Given the description of an element on the screen output the (x, y) to click on. 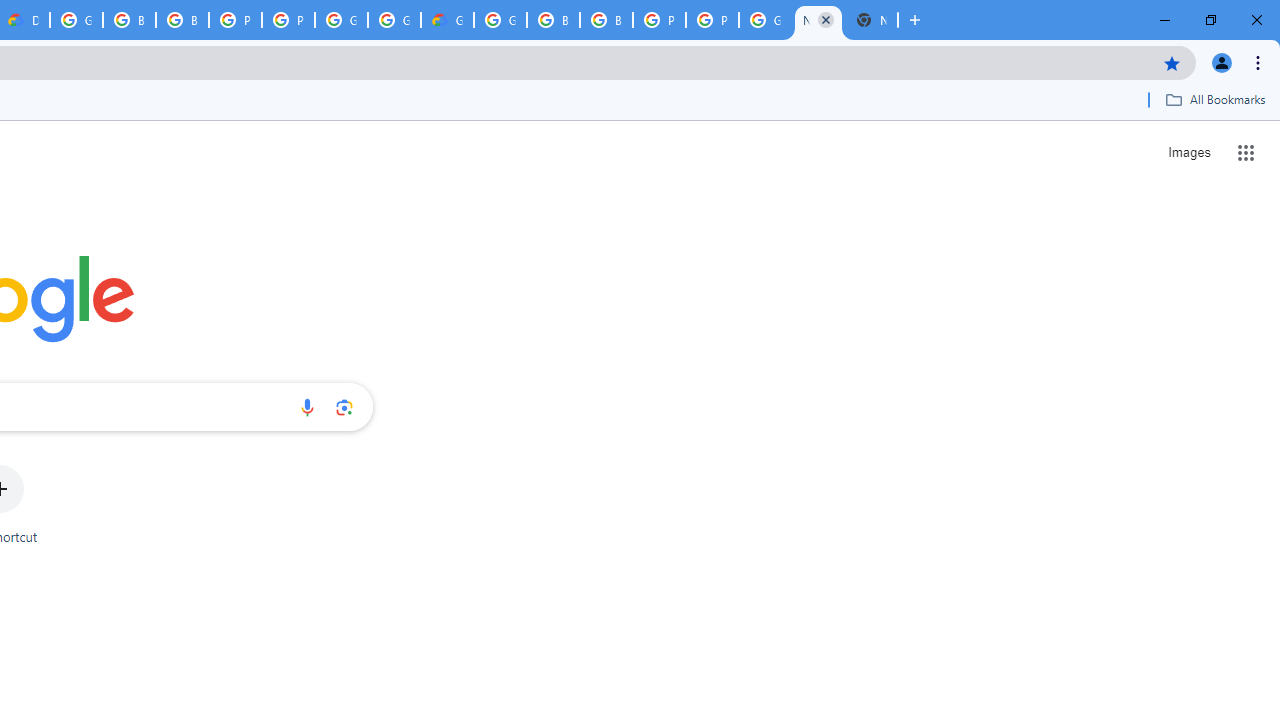
Browse Chrome as a guest - Computer - Google Chrome Help (606, 20)
Browse Chrome as a guest - Computer - Google Chrome Help (182, 20)
Search by voice (307, 407)
Google Cloud Platform (500, 20)
Google Cloud Estimate Summary (447, 20)
Browse Chrome as a guest - Computer - Google Chrome Help (553, 20)
Search for Images  (1188, 152)
Google Cloud Platform (76, 20)
Browse Chrome as a guest - Computer - Google Chrome Help (129, 20)
